Given the description of an element on the screen output the (x, y) to click on. 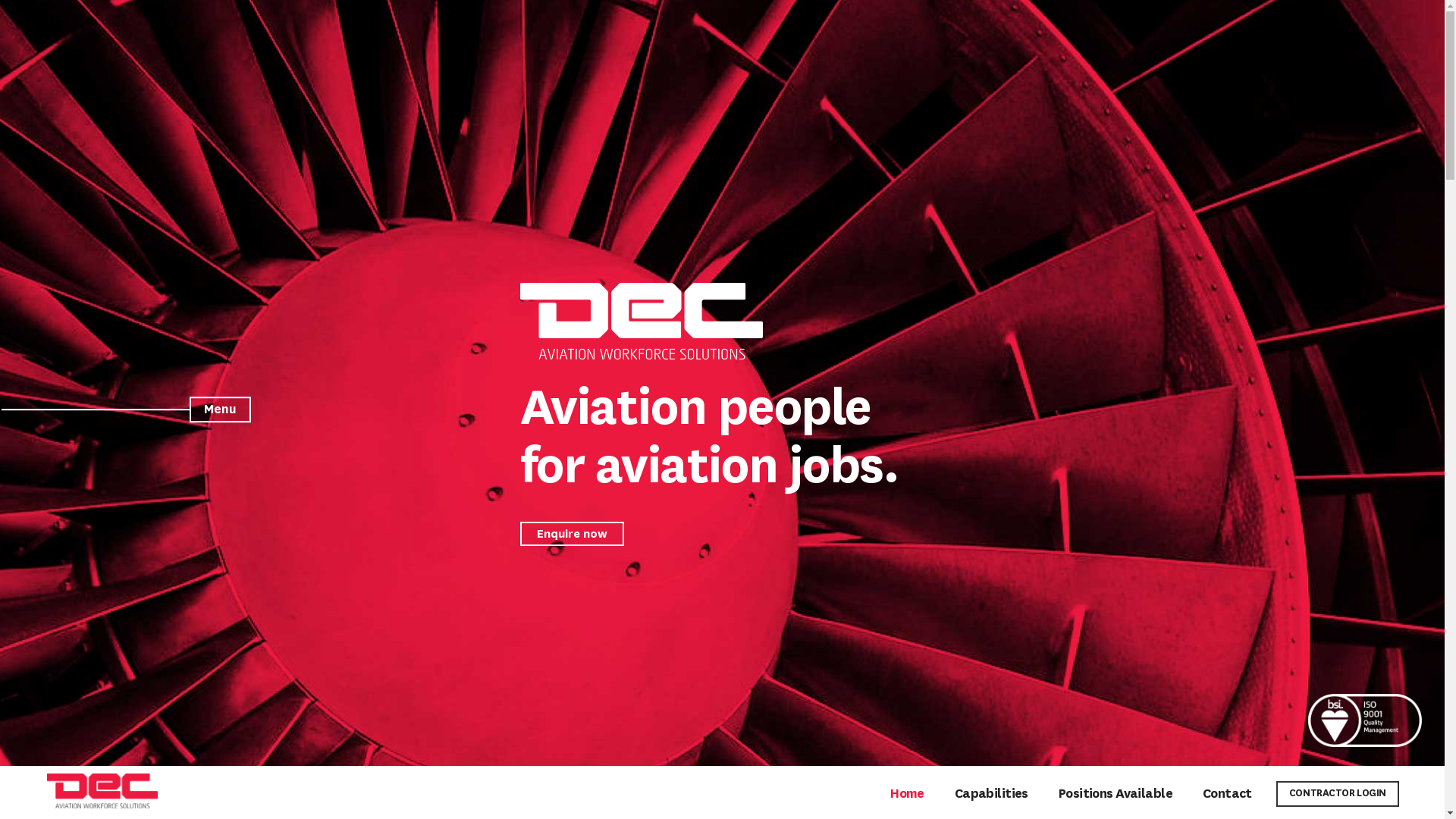
CONTRACTOR LOGIN Element type: text (1337, 793)
Home Element type: text (907, 793)
Positions Available Element type: text (1115, 793)
Contact Element type: text (1227, 793)
Enquire now Element type: text (572, 533)
Capabilities Element type: text (991, 793)
